Given the description of an element on the screen output the (x, y) to click on. 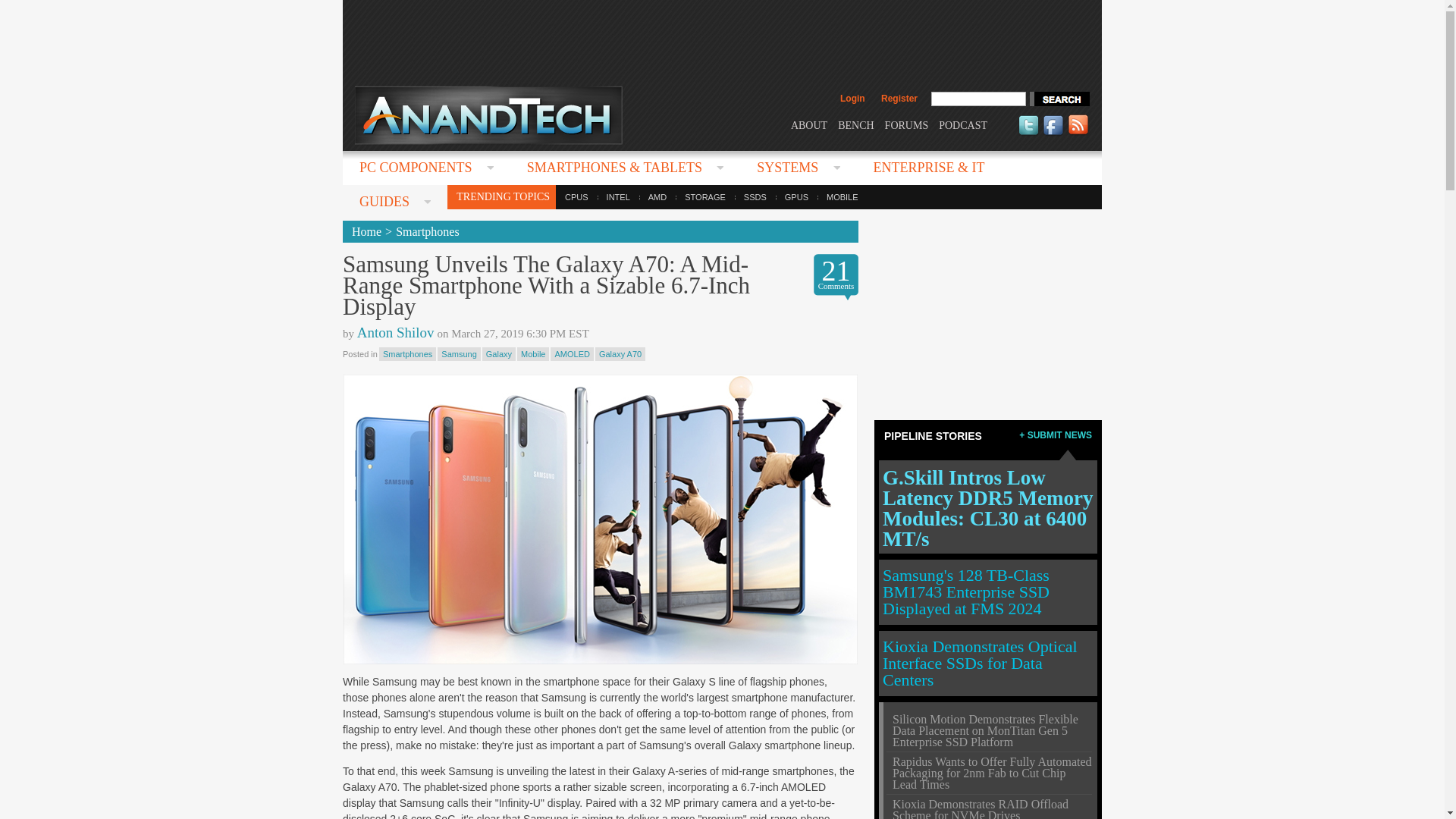
PODCAST (963, 125)
search (1059, 98)
Register (898, 98)
Login (852, 98)
ABOUT (808, 125)
BENCH (855, 125)
search (1059, 98)
search (1059, 98)
FORUMS (906, 125)
